Given the description of an element on the screen output the (x, y) to click on. 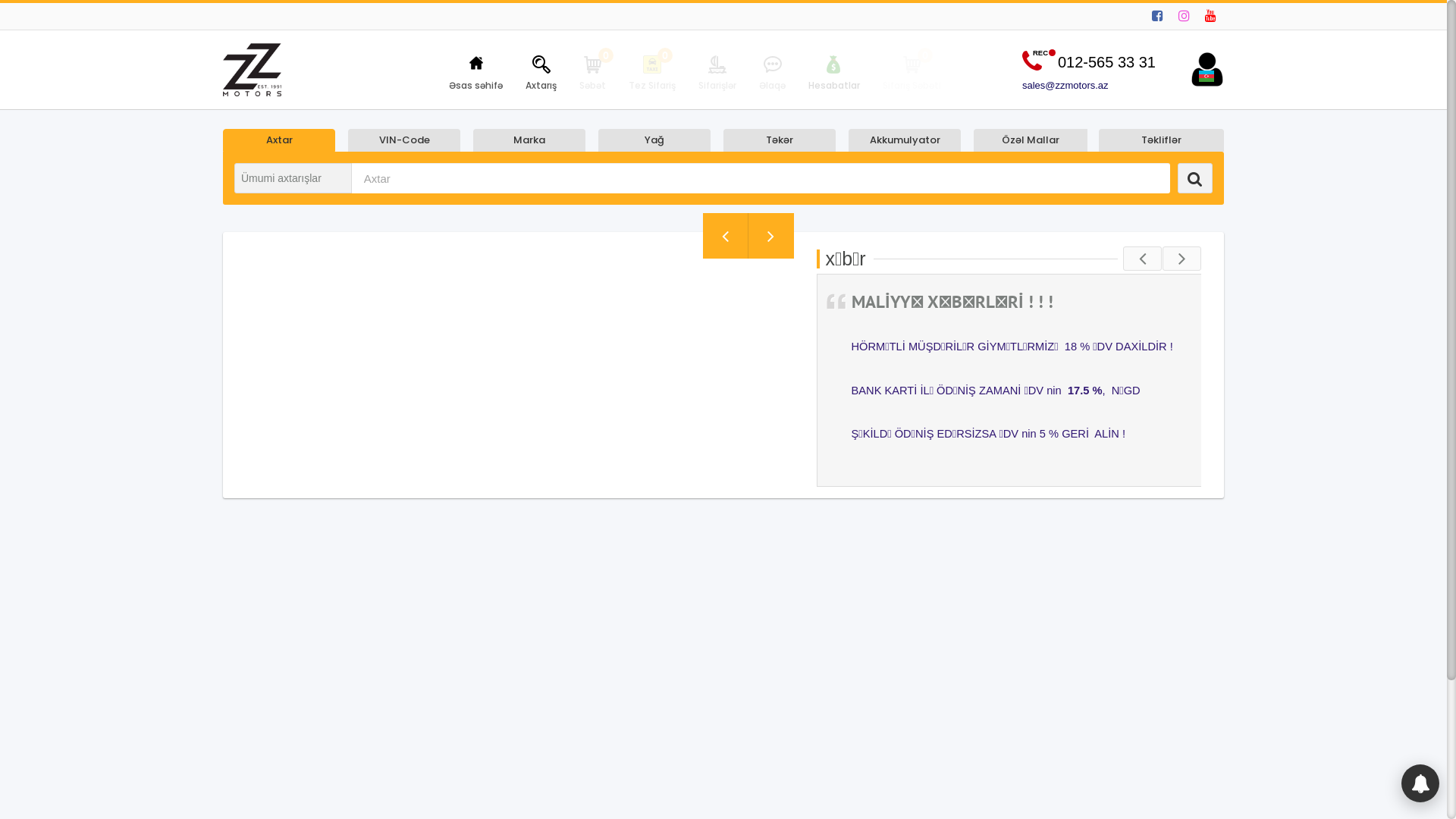
sales@zzmotors.az Element type: text (1088, 85)
Axtar Element type: text (278, 140)
Marka Element type: text (529, 140)
Akkumulyator Element type: text (904, 140)
Hesabatlar Element type: text (834, 68)
Logo Element type: hover (251, 69)
VIN-Code Element type: text (404, 140)
